Given the description of an element on the screen output the (x, y) to click on. 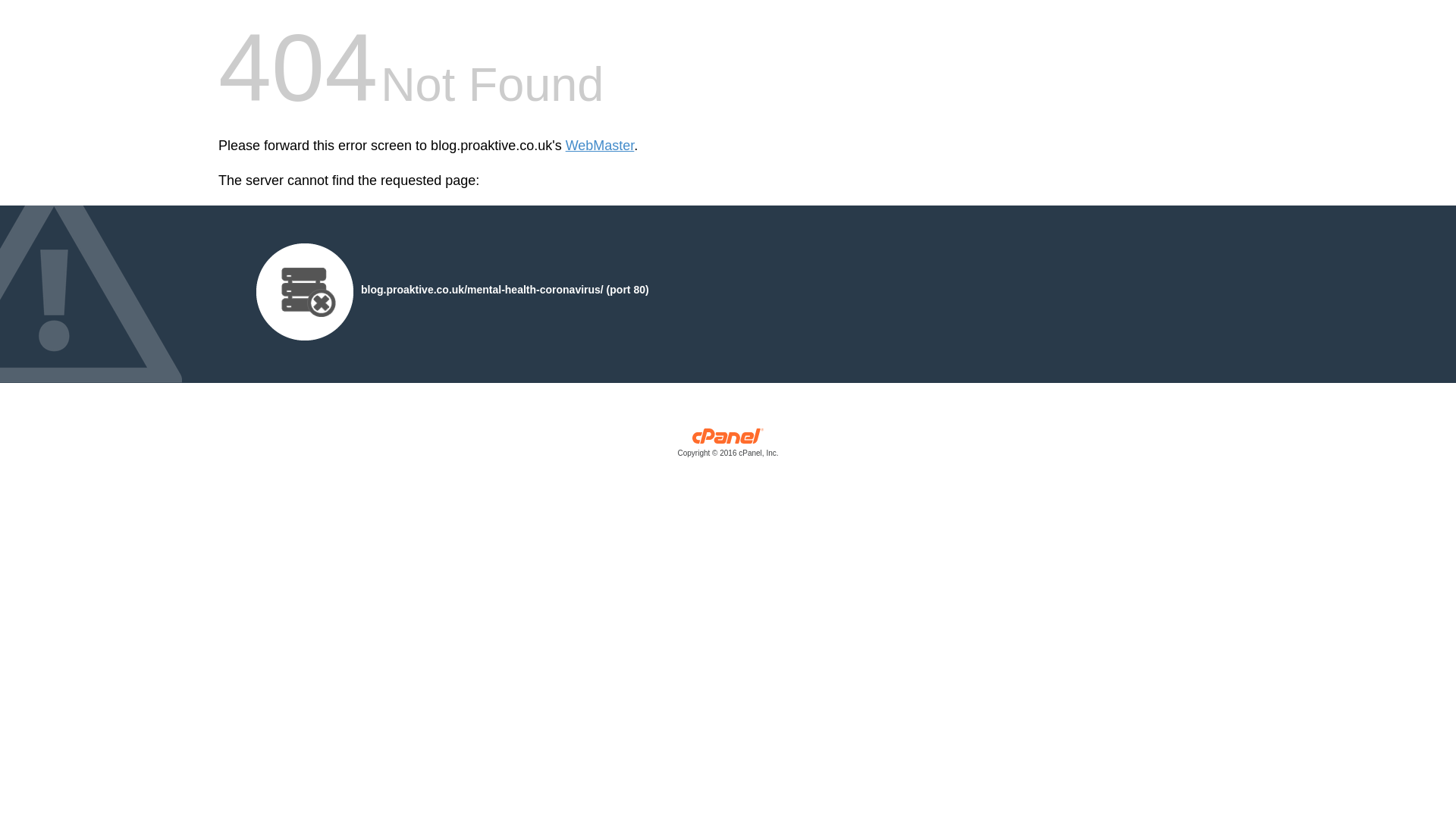
cPanel, Inc. (727, 446)
WebMaster (600, 145)
